Given the description of an element on the screen output the (x, y) to click on. 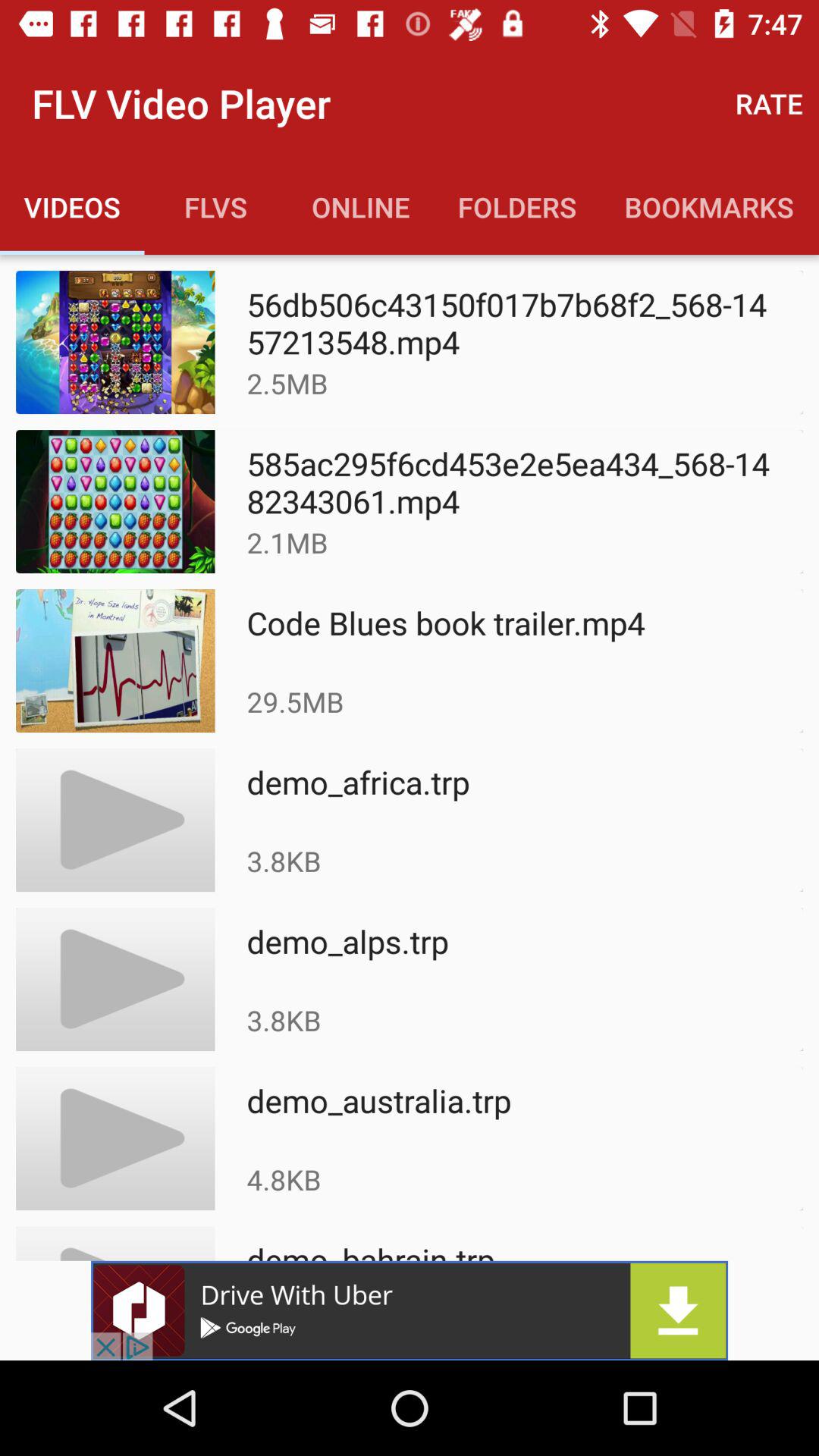
click on the first image (115, 341)
click on the image left to demoaustraliatrp (115, 1138)
